Given the description of an element on the screen output the (x, y) to click on. 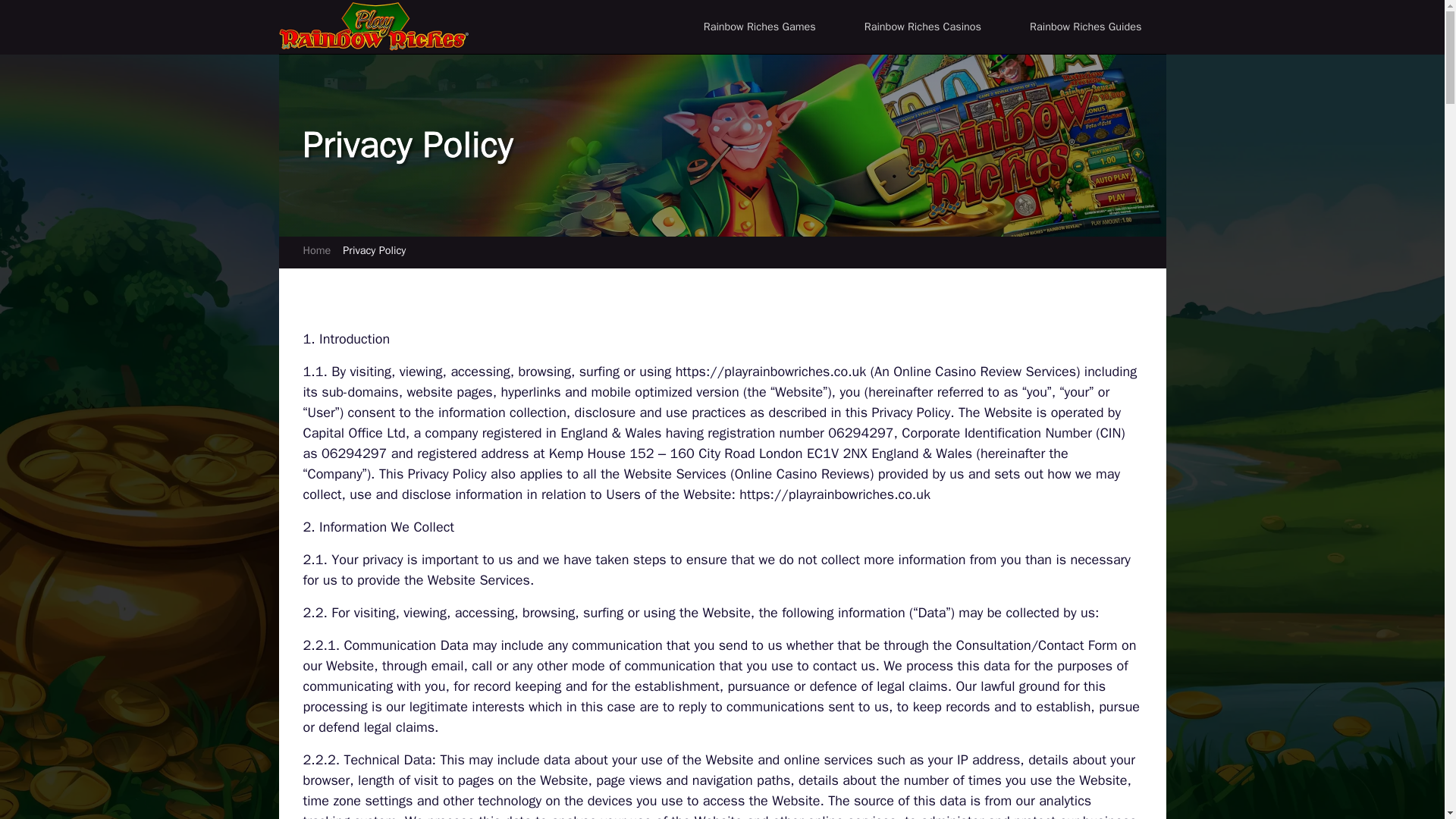
Play Rainbow Riches (373, 26)
Rainbow Riches Casinos (923, 27)
Rainbow Riches Guides (1086, 27)
Rainbow Riches Games (759, 27)
Home (316, 250)
